Given the description of an element on the screen output the (x, y) to click on. 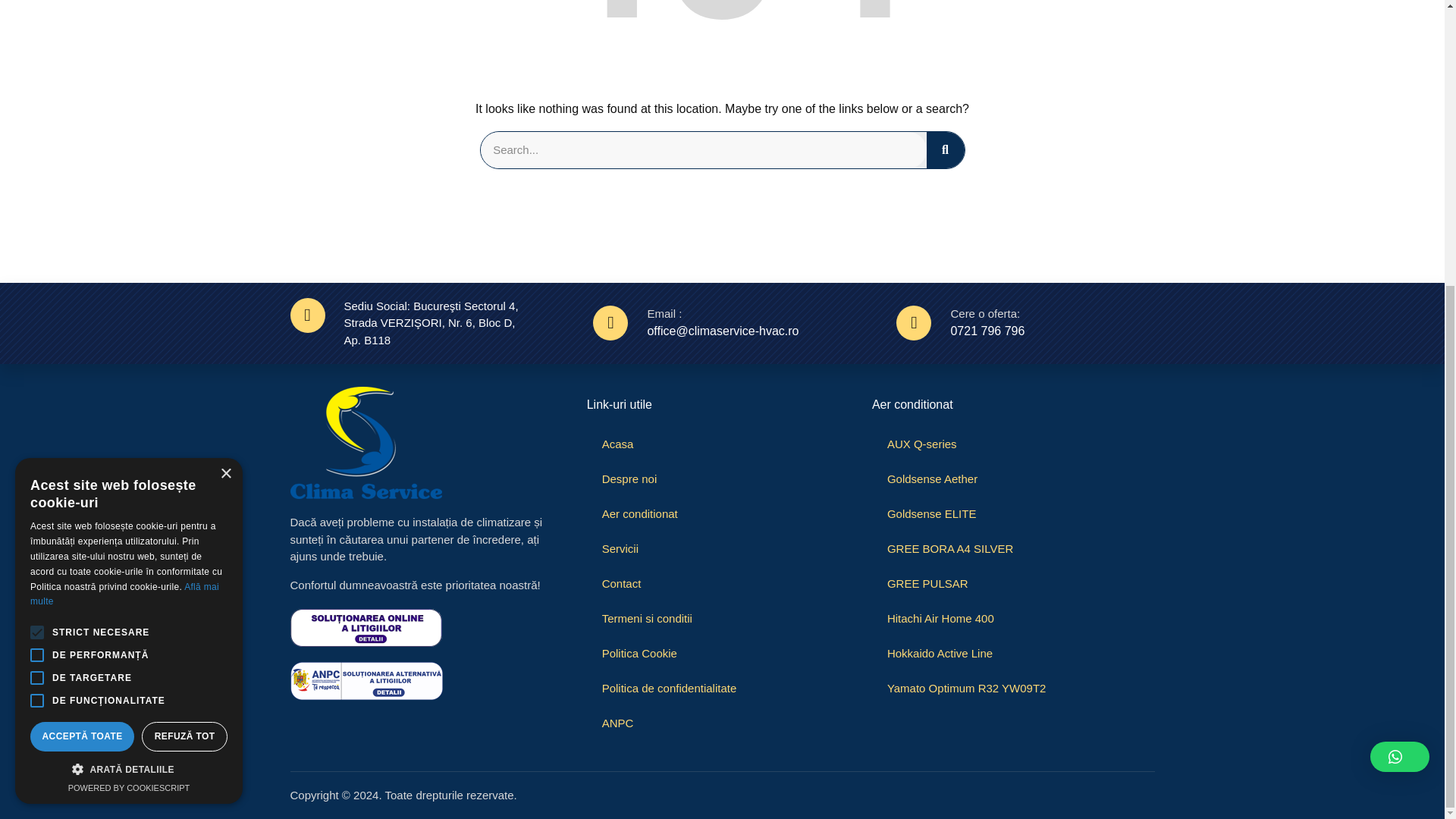
Consent Management Platform (129, 356)
Search (944, 149)
Search (703, 149)
